Given the description of an element on the screen output the (x, y) to click on. 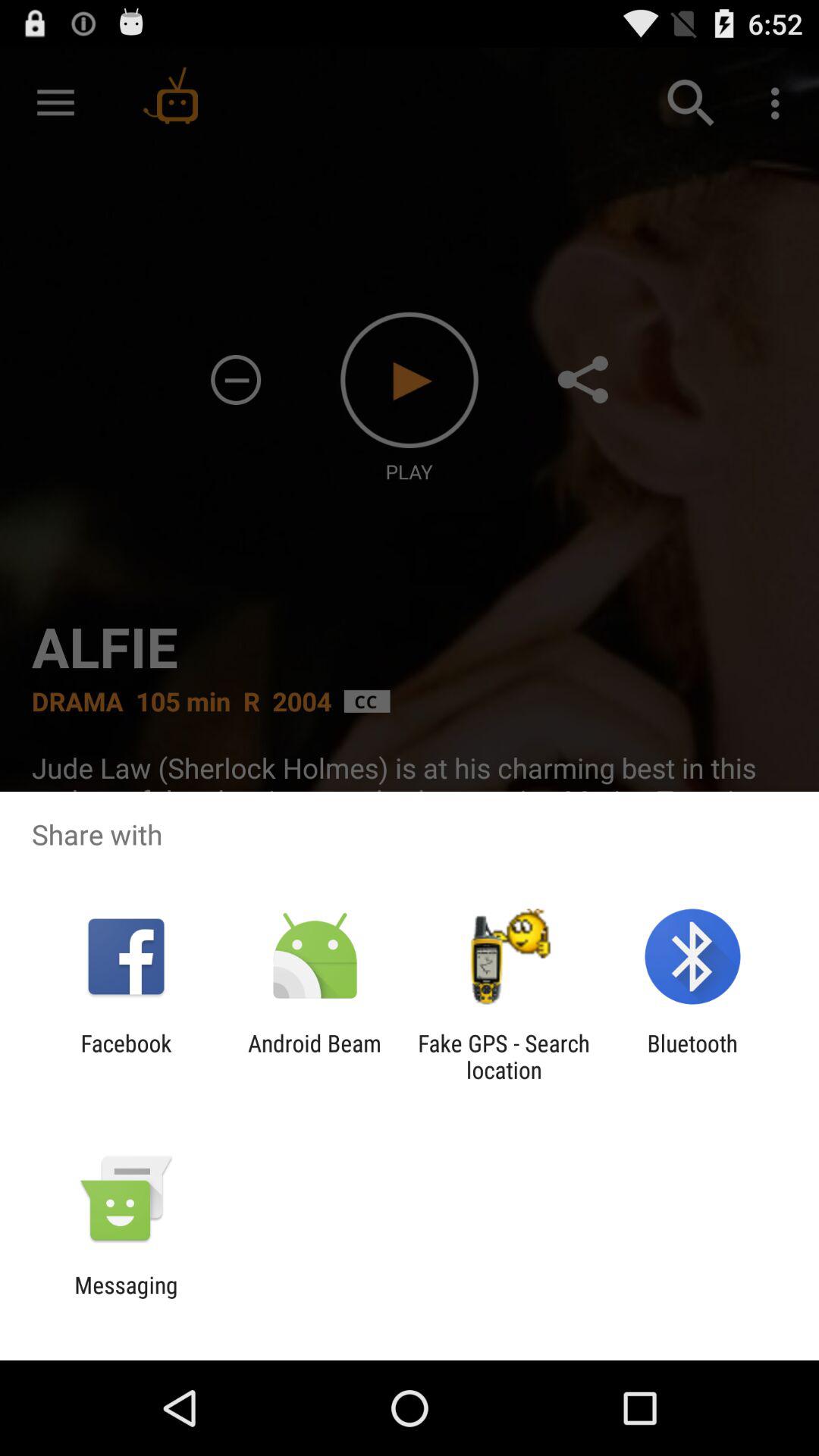
launch facebook item (125, 1056)
